Given the description of an element on the screen output the (x, y) to click on. 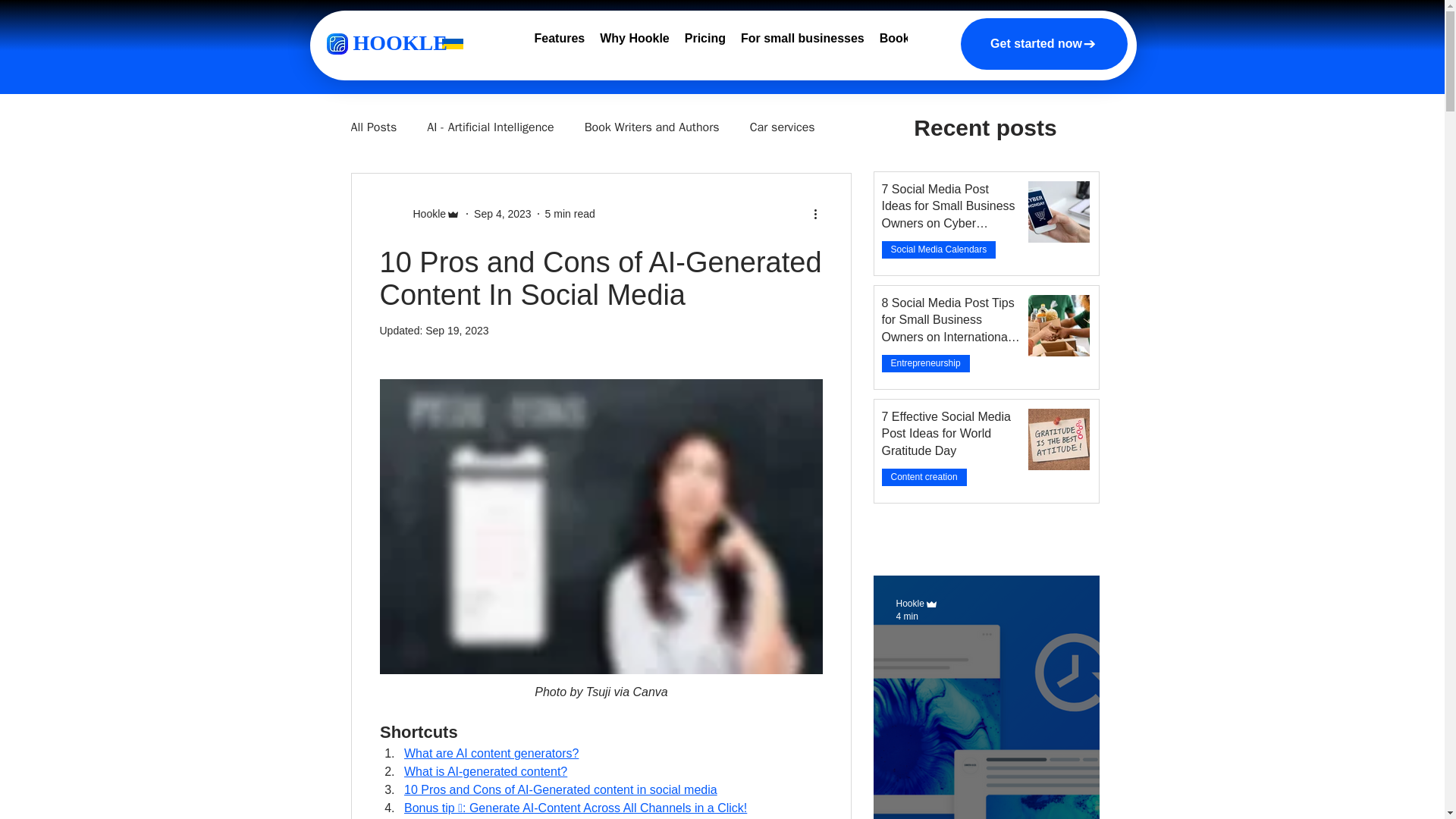
4 min (907, 615)
4 days ago (903, 280)
Book a demo (917, 42)
Aug 27 (895, 507)
Sep 19, 2023 (456, 330)
Hookle (424, 213)
Pricing (705, 42)
4 min (949, 394)
Features (558, 42)
Hookle (910, 603)
